Given the description of an element on the screen output the (x, y) to click on. 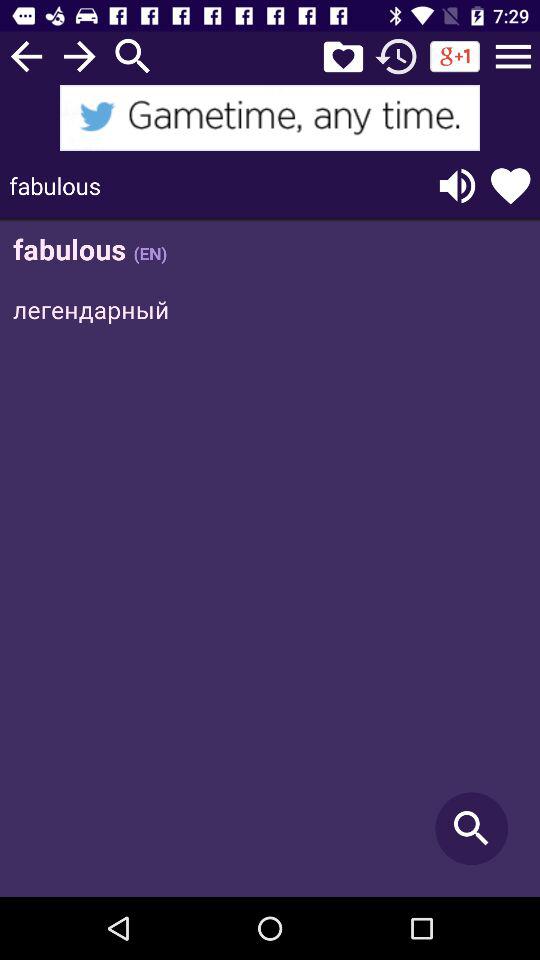
like option (510, 185)
